Given the description of an element on the screen output the (x, y) to click on. 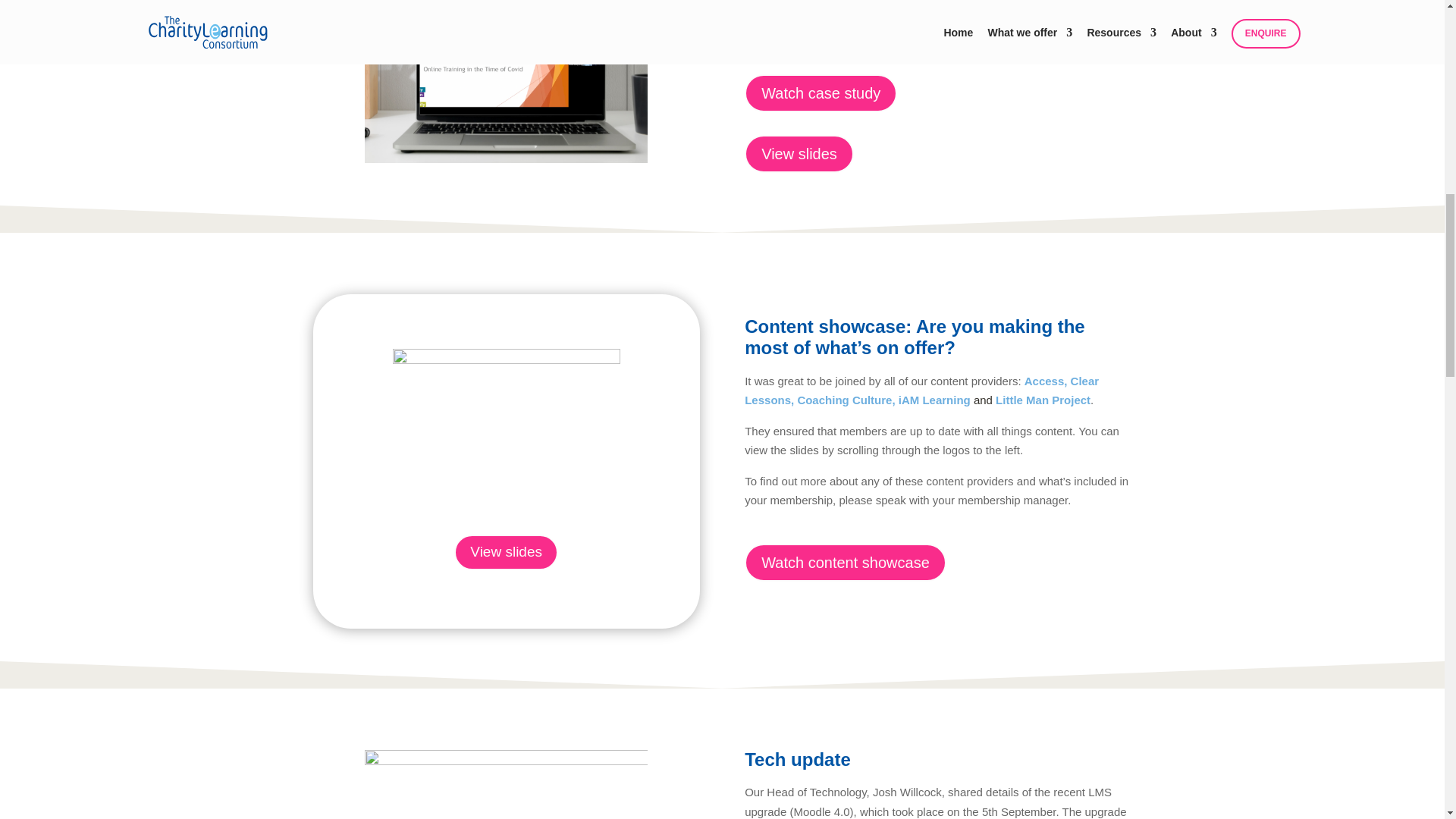
Watch content showcase (845, 562)
Watch case study (820, 93)
1 (506, 81)
View slides (798, 153)
